Given the description of an element on the screen output the (x, y) to click on. 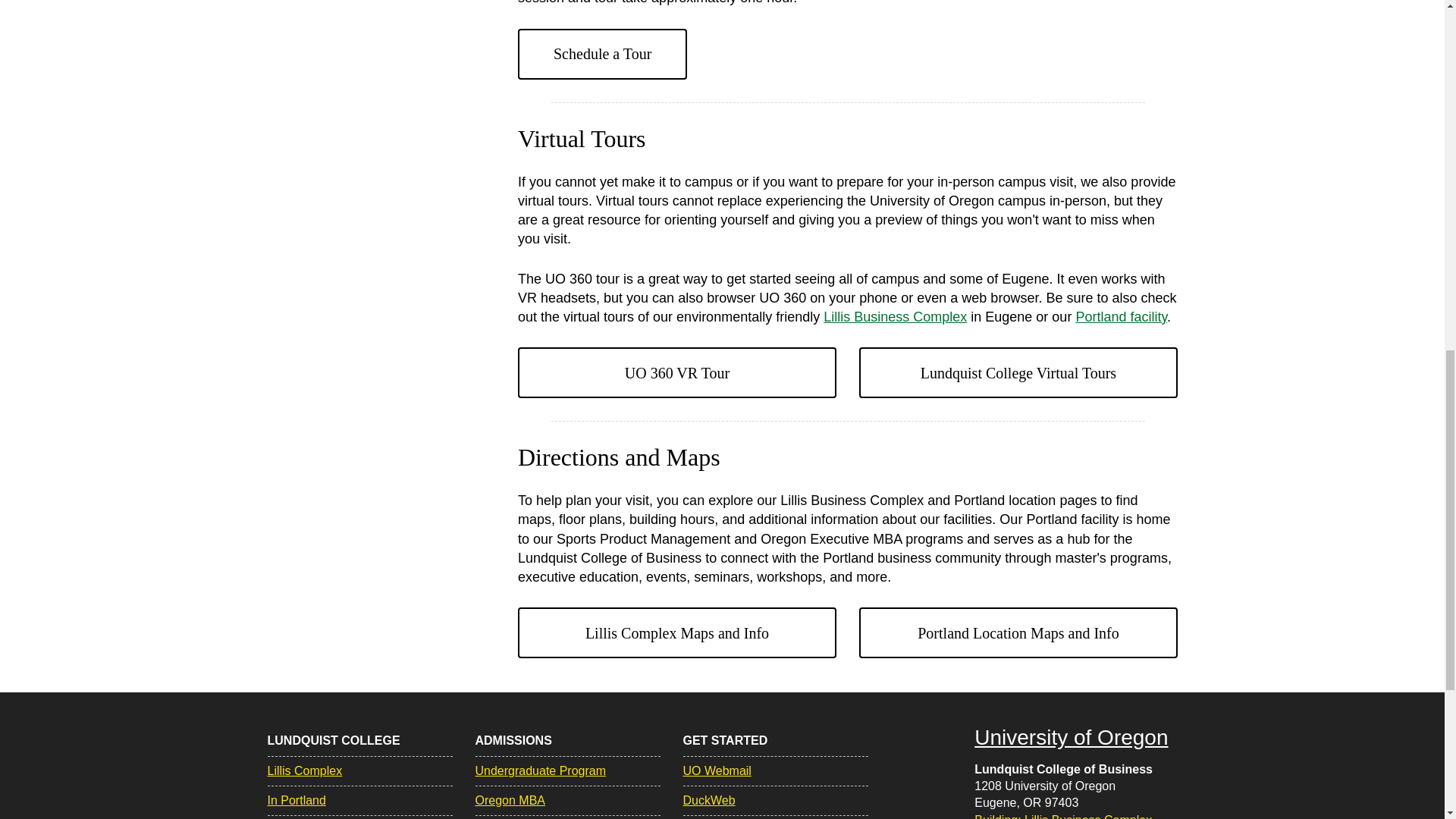
Our Portland Location (1017, 632)
Undergraduate Admissions (539, 770)
How to Apply to the Oregon MBA (509, 799)
Our Portland Location (295, 799)
Lillis Business Complex (675, 632)
Lillis Business Complex (895, 316)
Our Portland Location (1121, 316)
Lillis Business Complex (304, 770)
